Given the description of an element on the screen output the (x, y) to click on. 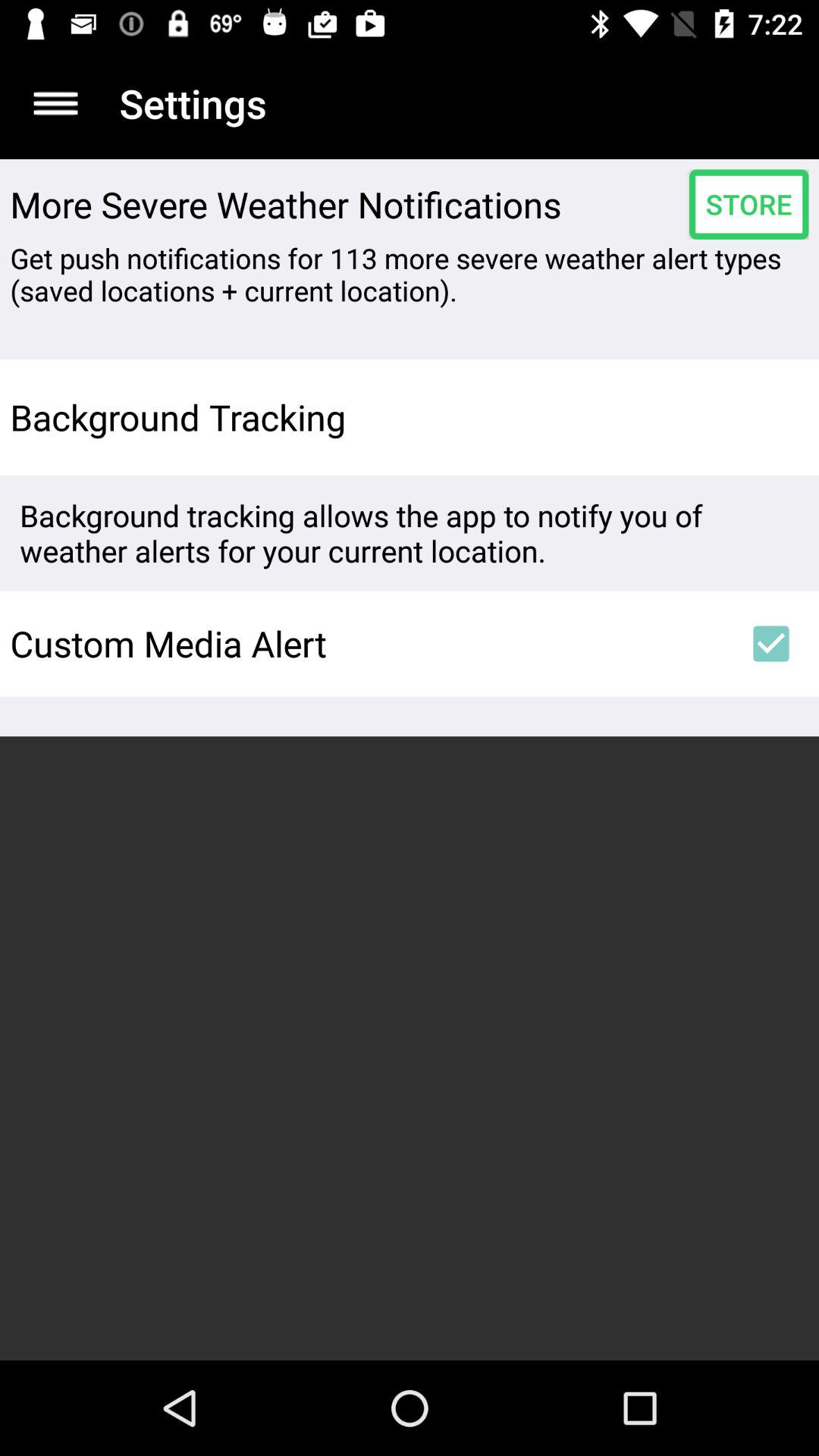
tap icon to the right of the custom media alert item (771, 643)
